Given the description of an element on the screen output the (x, y) to click on. 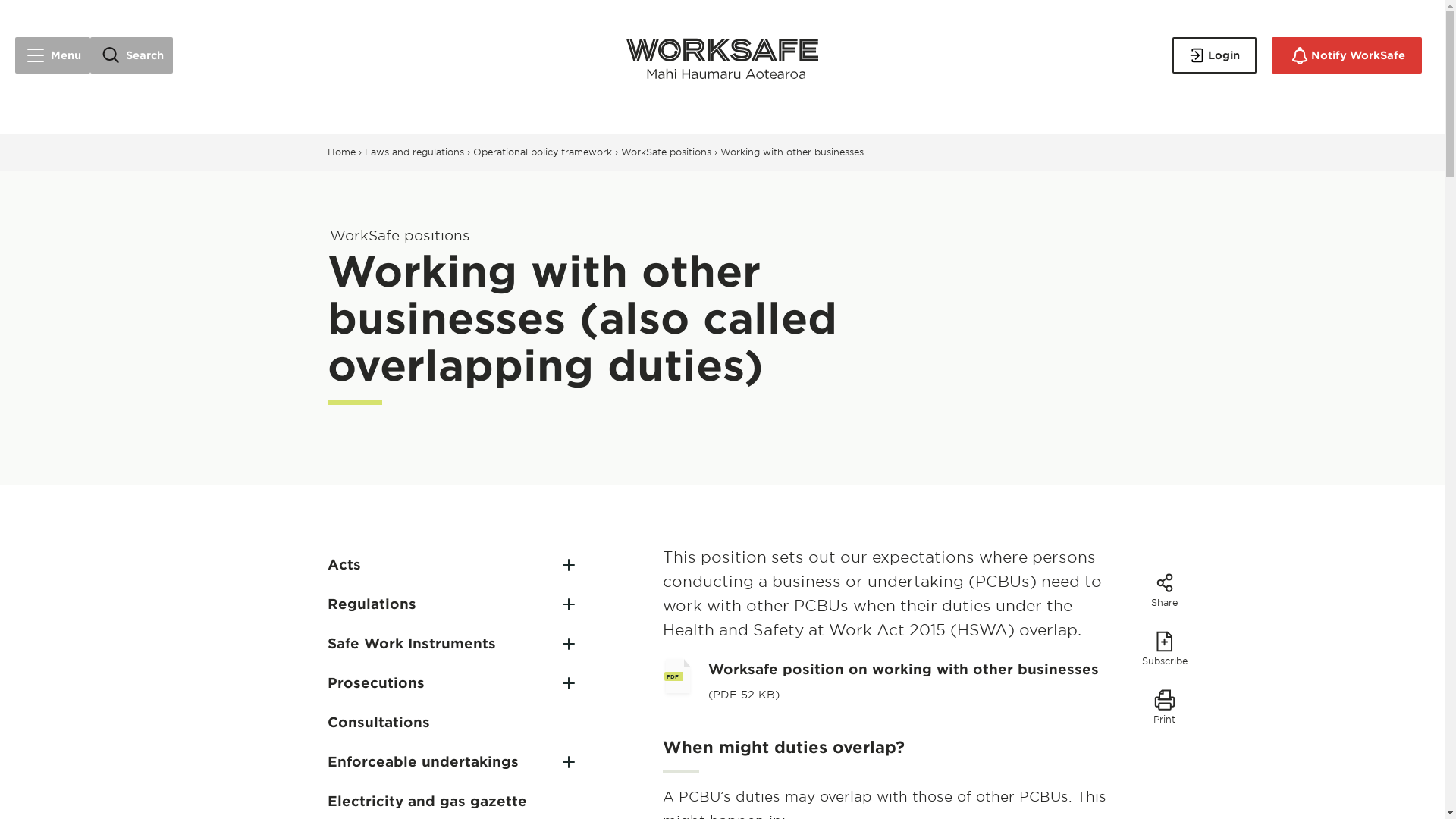
Link to home page (722, 54)
Search (131, 54)
Notify WorkSafe (1346, 54)
Menu (52, 54)
Login (1214, 54)
